Given the description of an element on the screen output the (x, y) to click on. 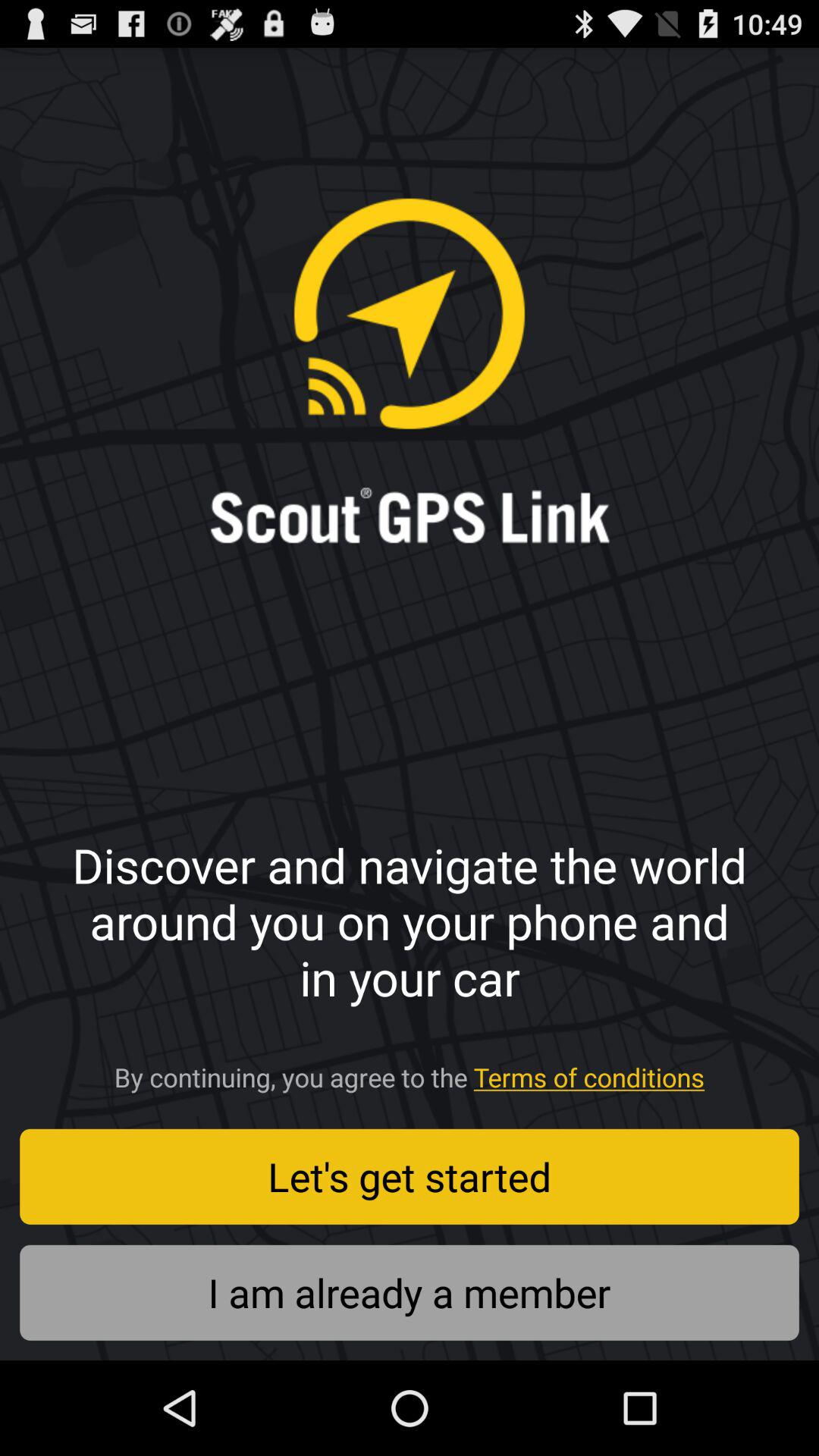
jump to i am already icon (409, 1292)
